Given the description of an element on the screen output the (x, y) to click on. 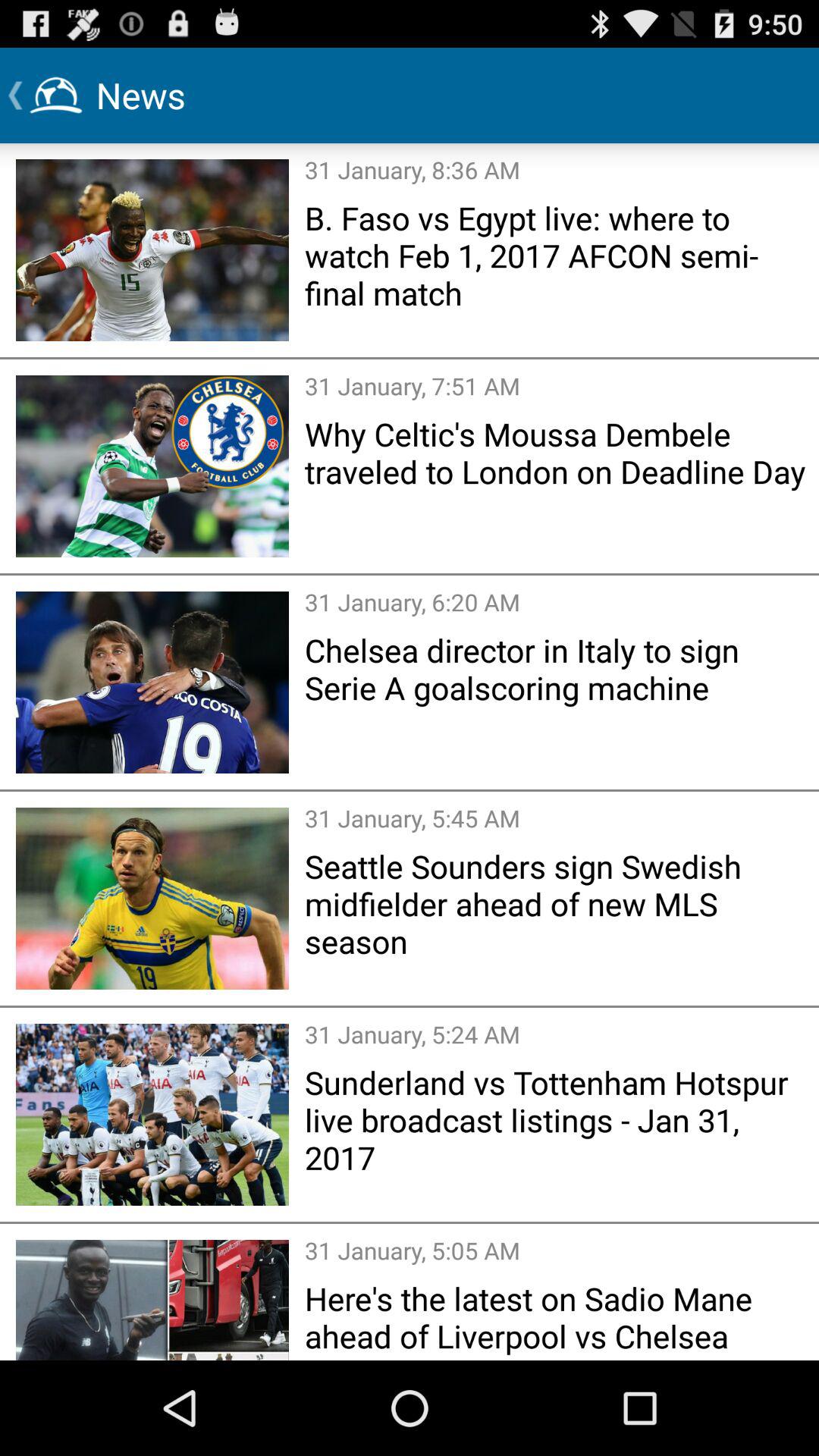
turn off why celtic s item (556, 452)
